Given the description of an element on the screen output the (x, y) to click on. 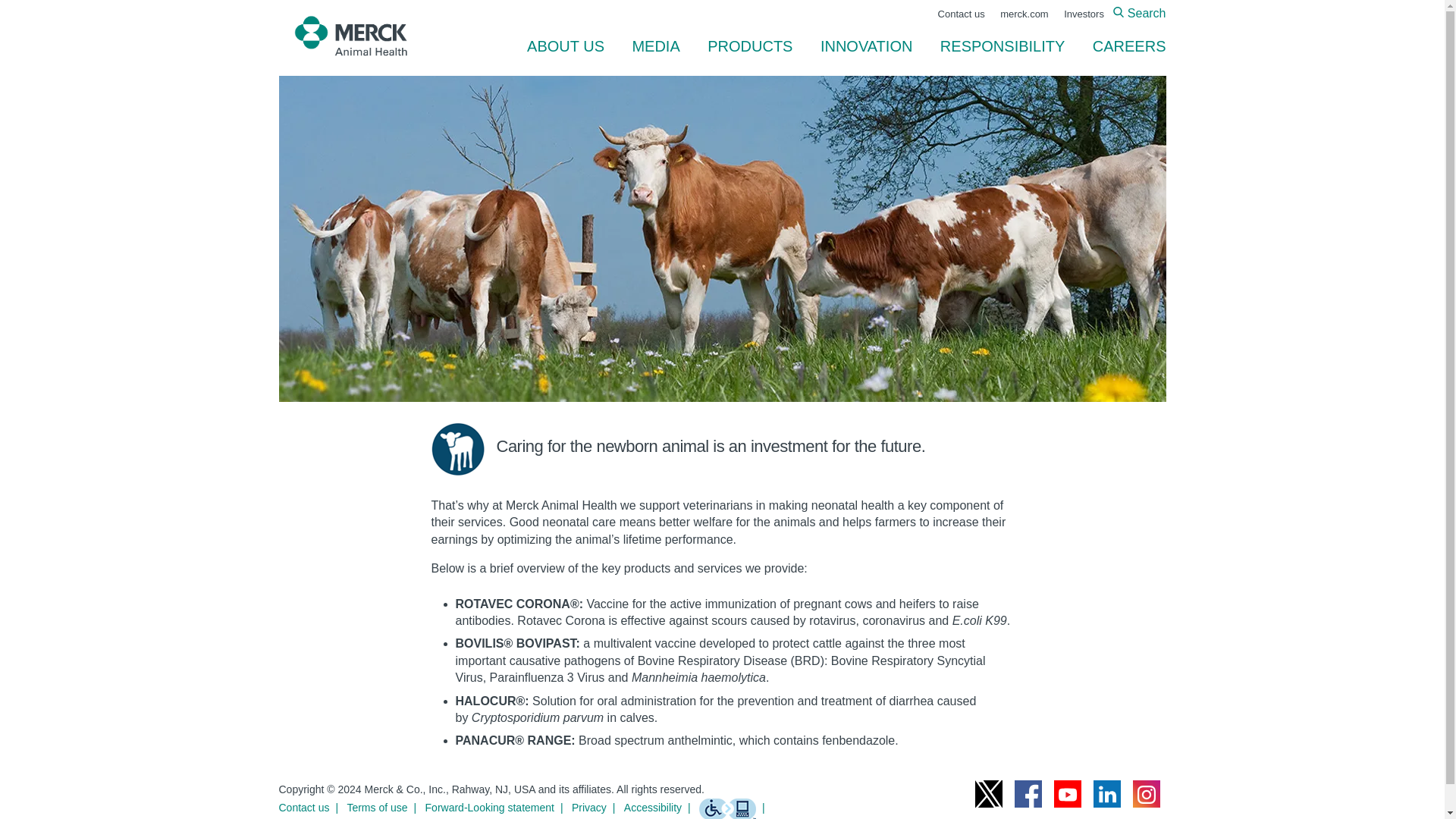
Accessibility (660, 807)
merck.com (1024, 14)
Contact us (961, 14)
MEDIA (655, 46)
Careers (1123, 46)
Twitter: Merck Animal Health (989, 793)
PRODUCTS (750, 46)
CAREERS (1123, 46)
ABOUT US (565, 46)
Privacy (596, 807)
Investors (1083, 14)
Linkedin: Merck Animal Health (1107, 793)
Contact us (312, 807)
RESPONSIBILITY (1002, 46)
Terms of use (384, 807)
